Given the description of an element on the screen output the (x, y) to click on. 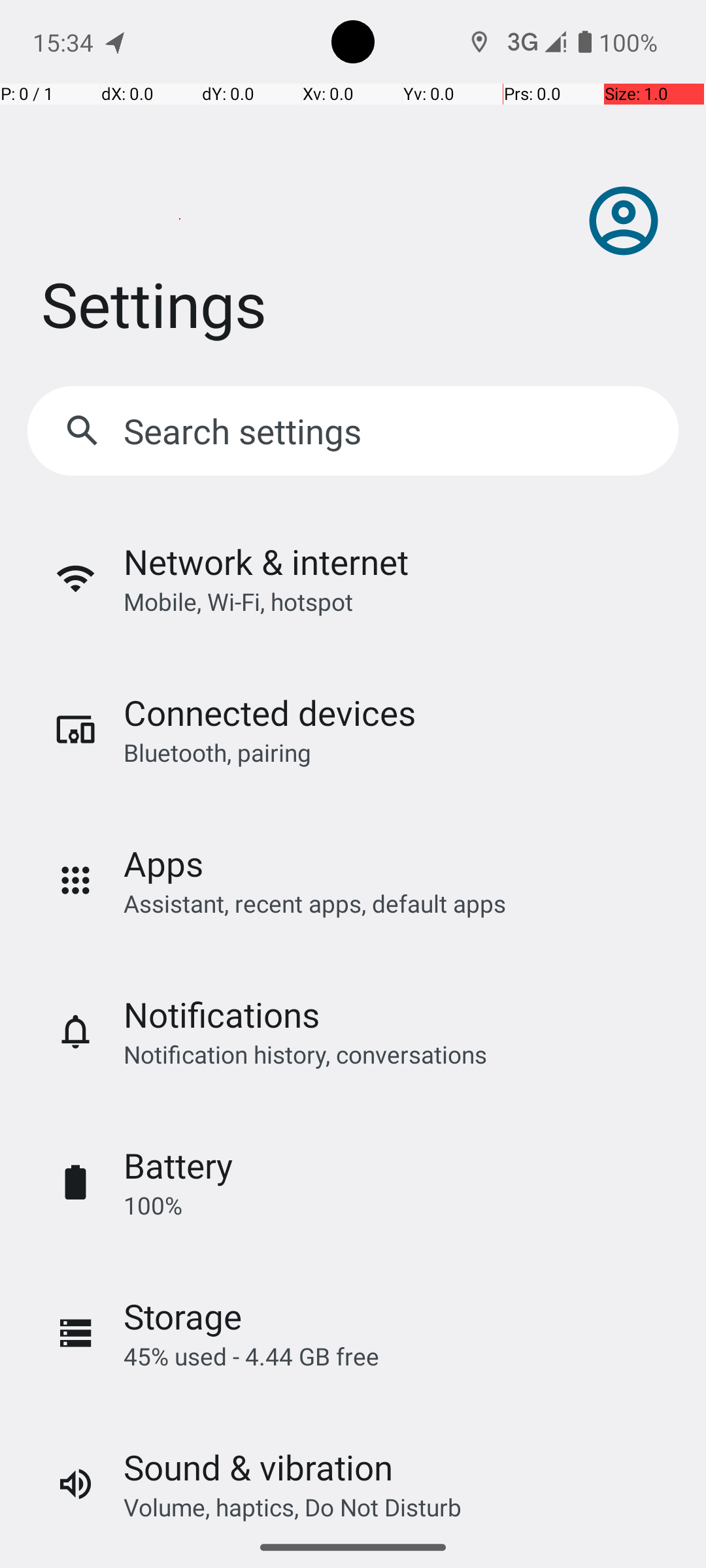
45% used - 4.44 GB free Element type: android.widget.TextView (251, 1355)
